Given the description of an element on the screen output the (x, y) to click on. 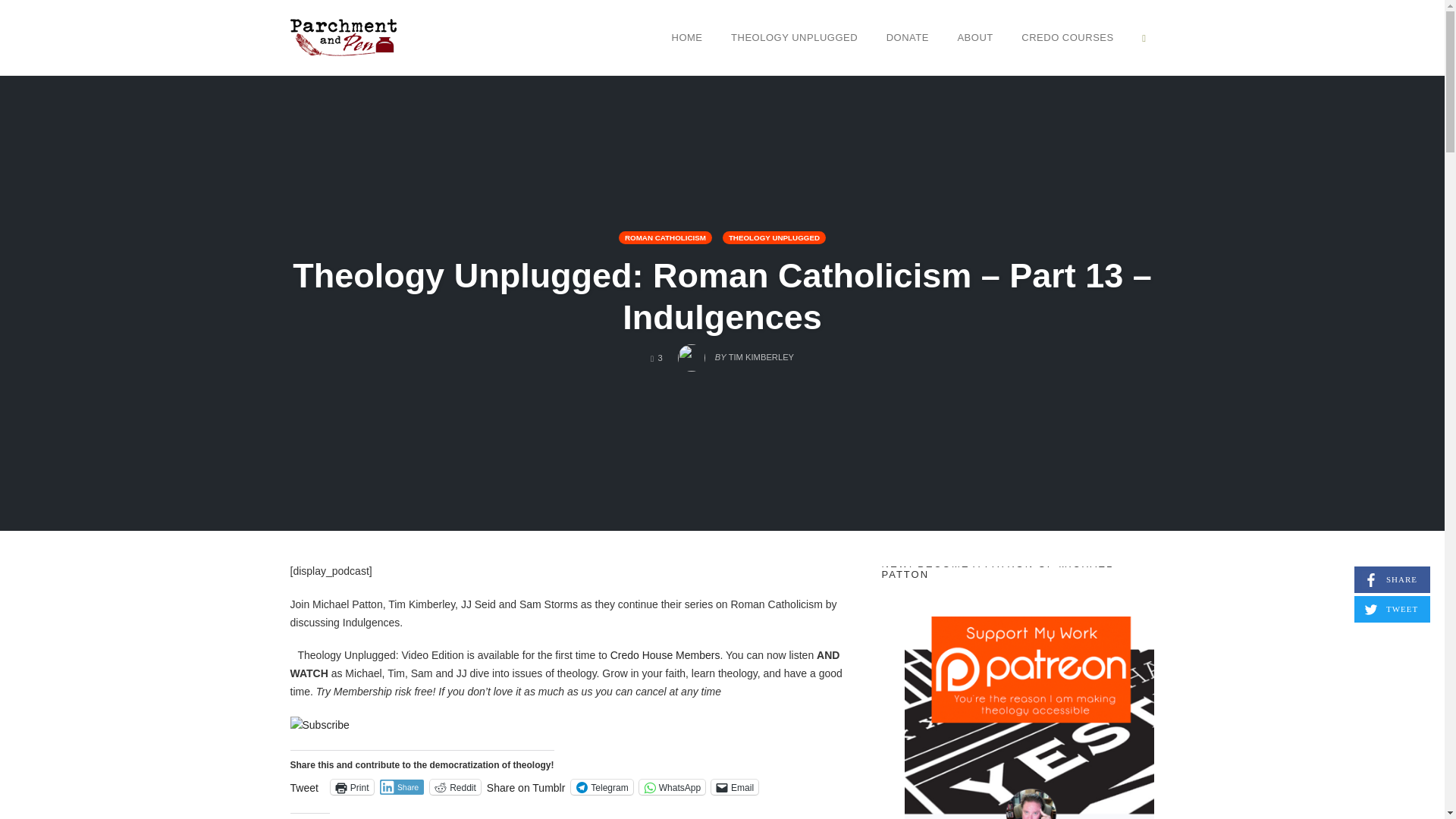
Credo House Members (665, 654)
Click to share on Reddit (454, 786)
Click to share on Telegram (600, 786)
OPEN SEARCH FORM (1144, 37)
Click to print (352, 786)
Email (656, 357)
itunes (734, 786)
Click to share on WhatsApp (319, 725)
Share (671, 786)
WhatsApp (402, 786)
Reddit (671, 786)
CREDO COURSES (454, 786)
HOME (1067, 37)
Share on Tumblr (687, 37)
